Given the description of an element on the screen output the (x, y) to click on. 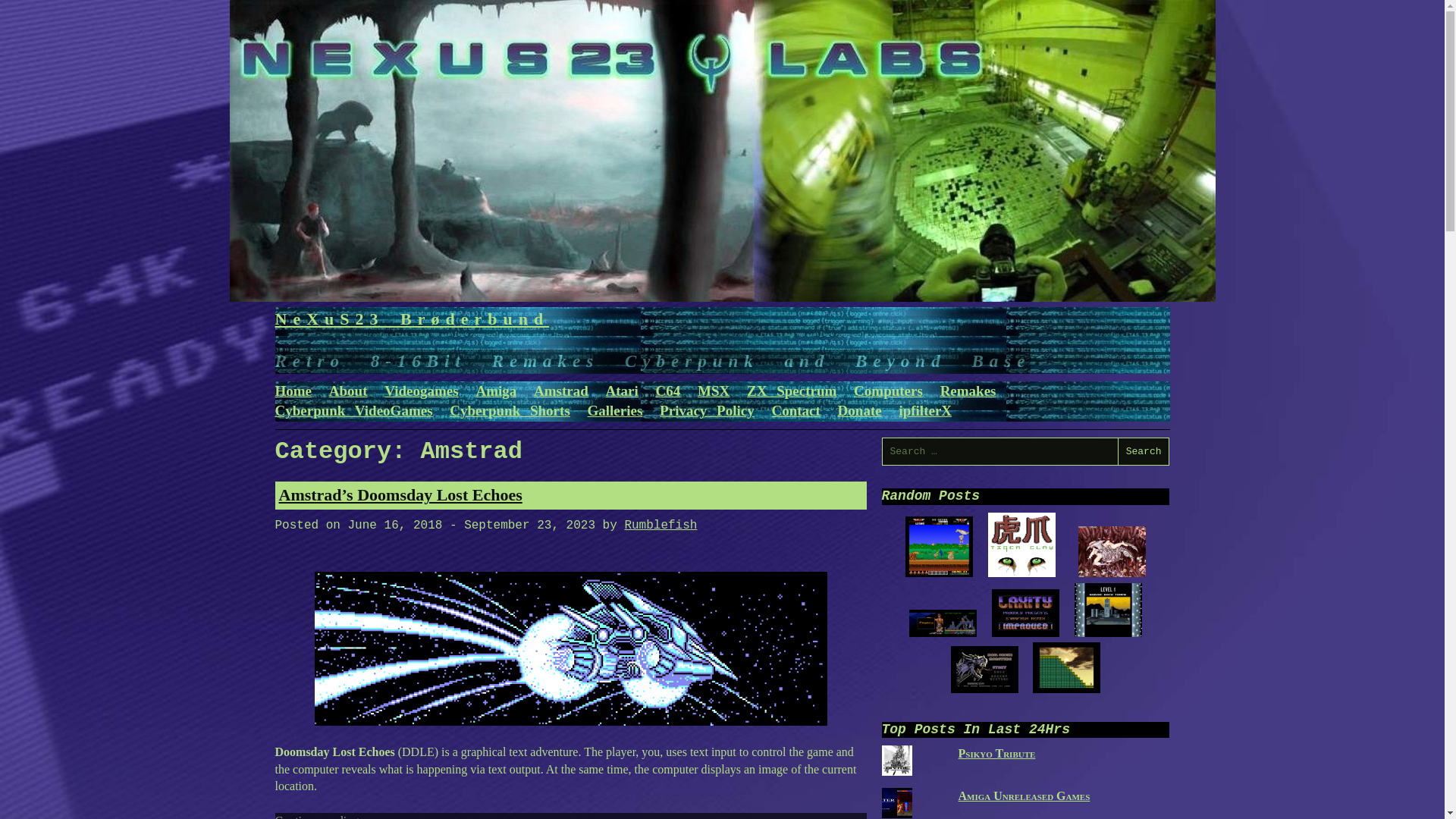
ZX Spectrum (790, 390)
Amiga (496, 390)
Search (1144, 451)
Amiga's Legacy (942, 633)
Home (293, 390)
Rumblefish (660, 525)
Hellbound (1111, 551)
Donate (860, 410)
Amiga's Rygar (938, 546)
About (348, 390)
Atari (622, 390)
Videogames (421, 390)
C64 Tiger Claw (1021, 573)
Contact (795, 410)
C64 Mail Order Monsters (983, 689)
